Given the description of an element on the screen output the (x, y) to click on. 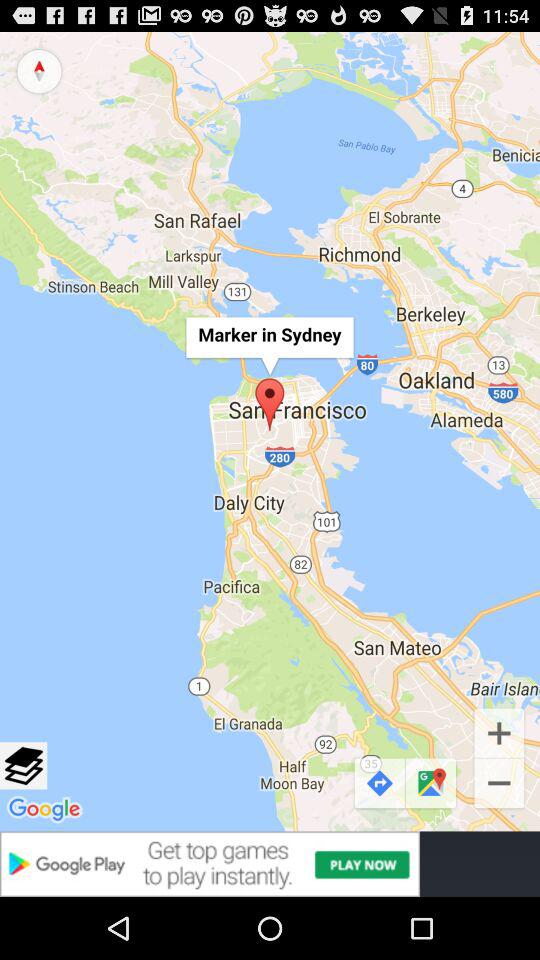
view (23, 765)
